Given the description of an element on the screen output the (x, y) to click on. 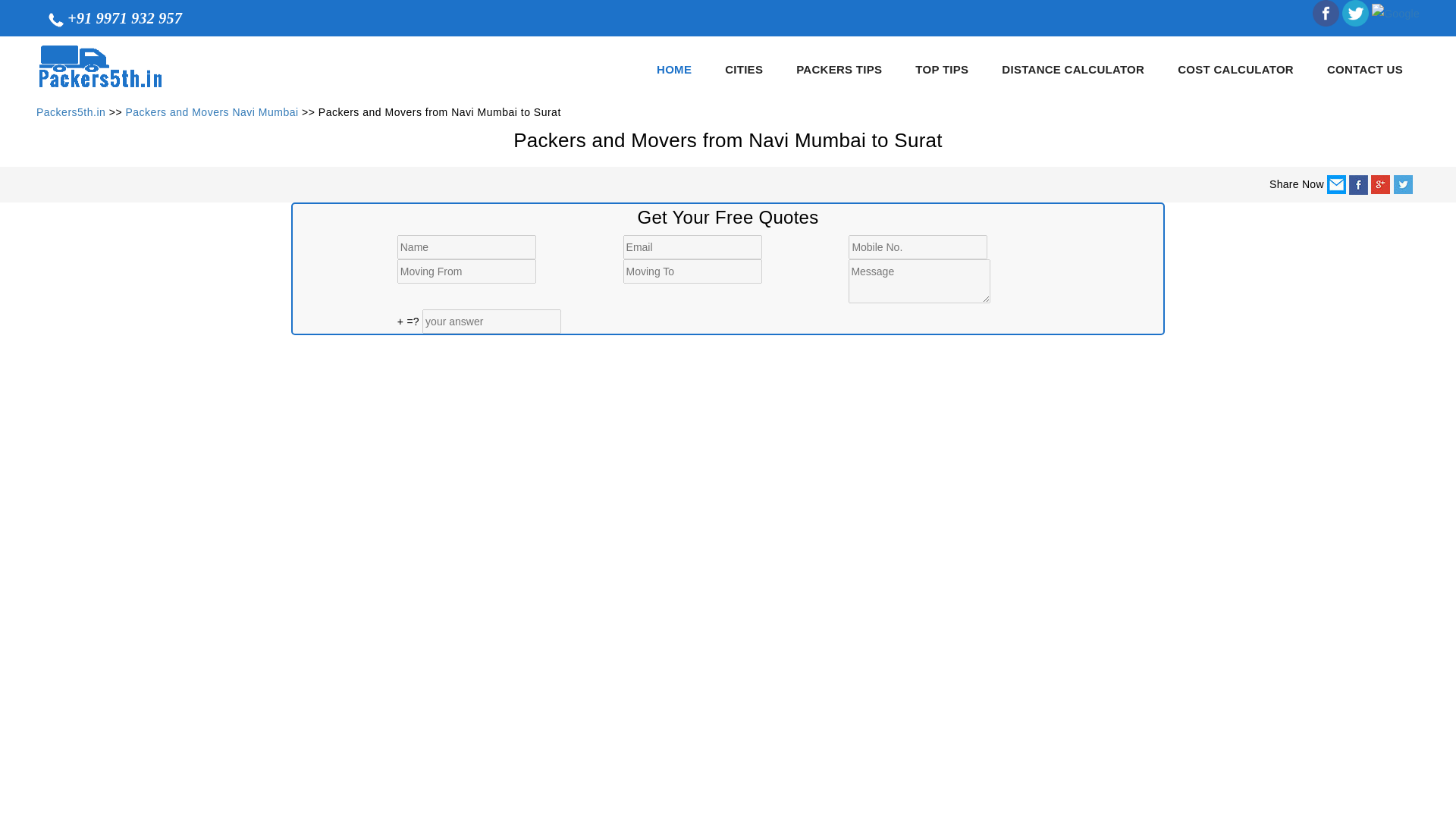
CONTACT US (1364, 69)
HOME (673, 69)
COST CALCULATOR (1235, 69)
CITIES (742, 69)
DISTANCE CALCULATOR (1072, 69)
Packers5th.in (70, 111)
TOP TIPS (941, 69)
Please answer the question to prove you are human (491, 321)
Packers and Movers Navi Mumbai (211, 111)
PACKERS TIPS (838, 69)
